Given the description of an element on the screen output the (x, y) to click on. 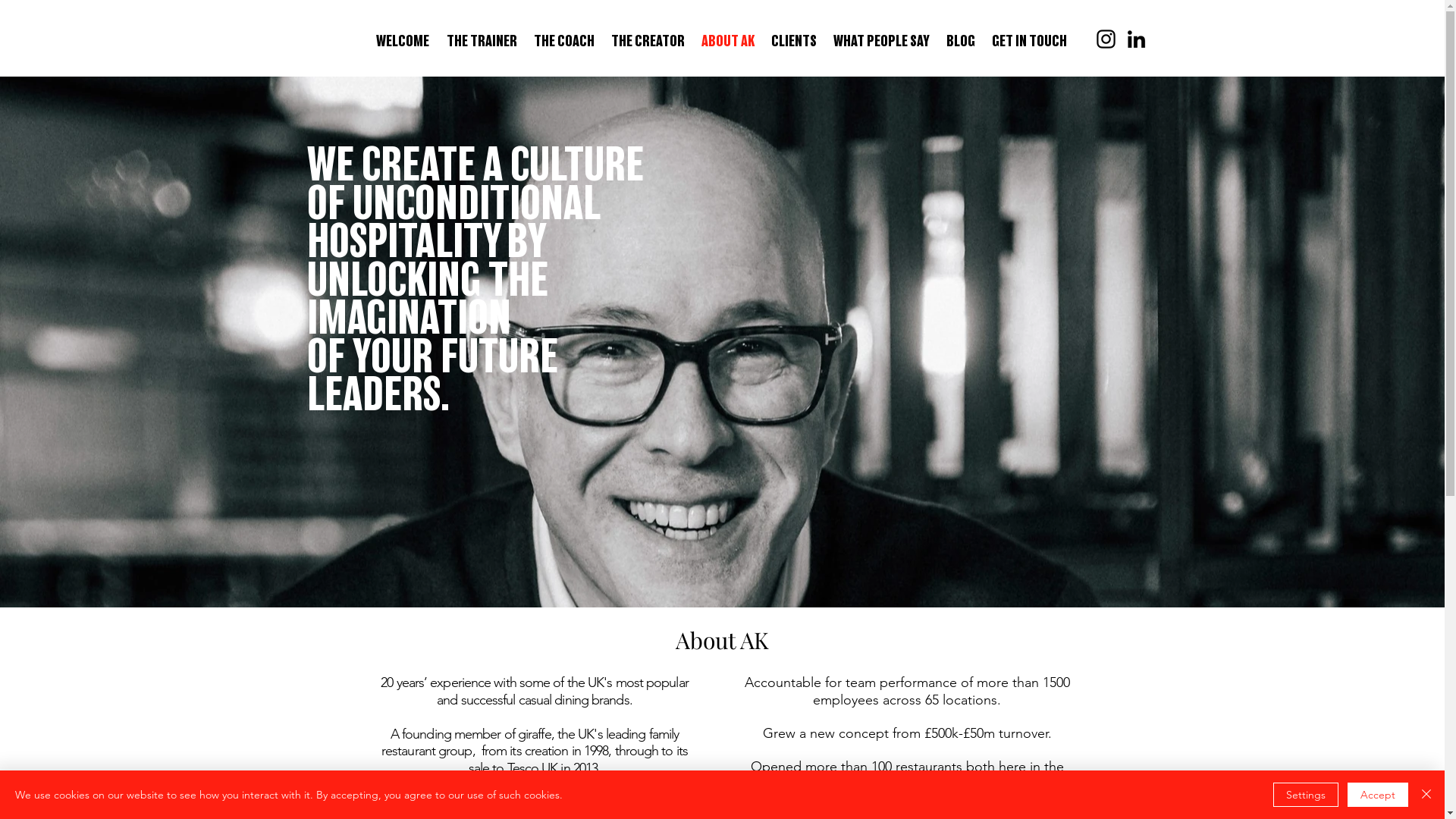
WELCOME Element type: text (403, 41)
ABOUT AK Element type: text (727, 41)
THE CREATOR Element type: text (648, 41)
THE TRAINER Element type: text (481, 41)
THE COACH Element type: text (564, 41)
BLOG Element type: text (961, 41)
WHAT PEOPLE SAY Element type: text (881, 41)
Settings Element type: text (1305, 794)
CLIENTS Element type: text (793, 41)
Accept Element type: text (1377, 794)
GET IN TOUCH Element type: text (1030, 41)
